Given the description of an element on the screen output the (x, y) to click on. 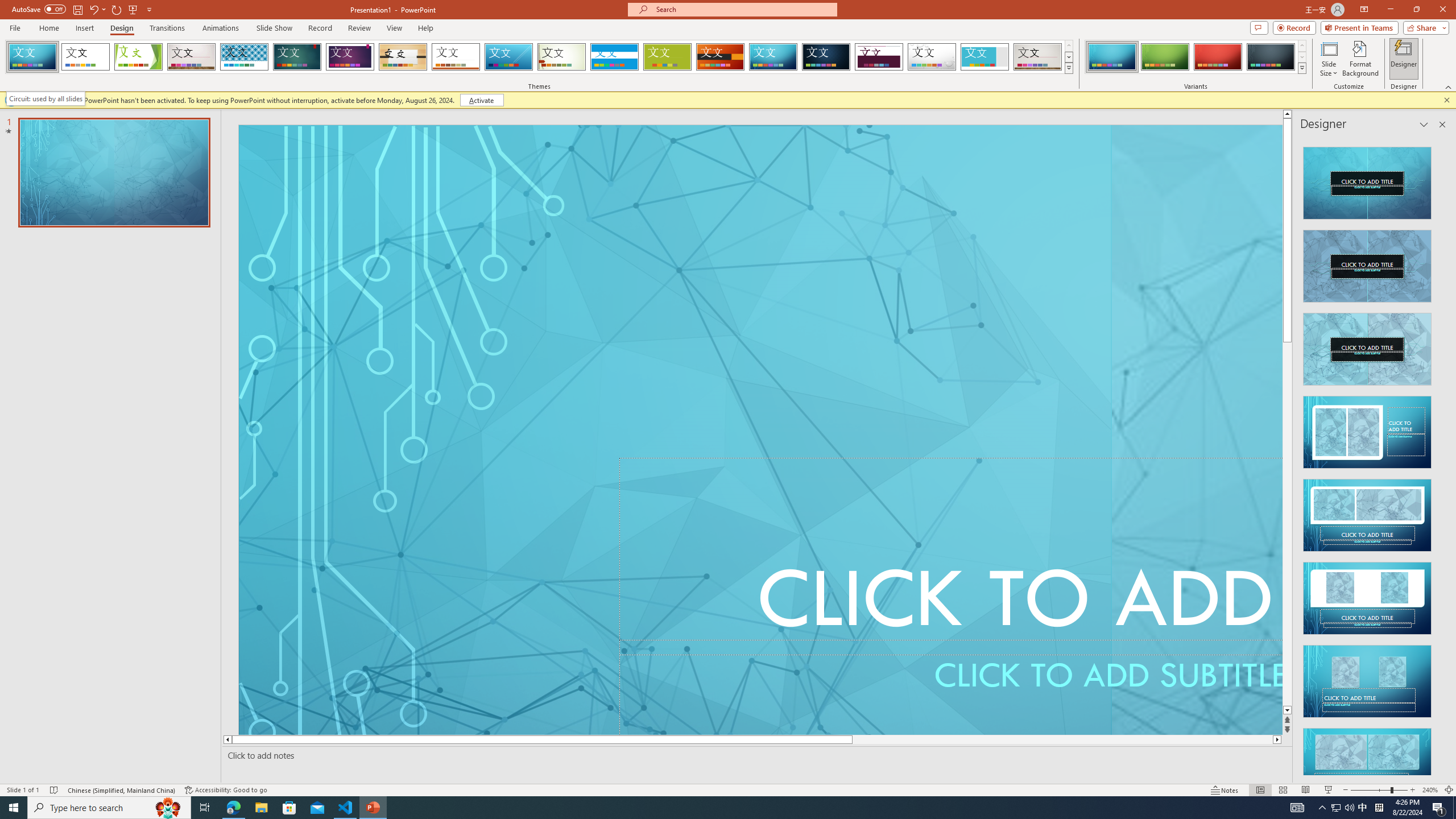
AutomationID: SlideThemesGallery (539, 56)
FadeVTI (32, 56)
